Given the description of an element on the screen output the (x, y) to click on. 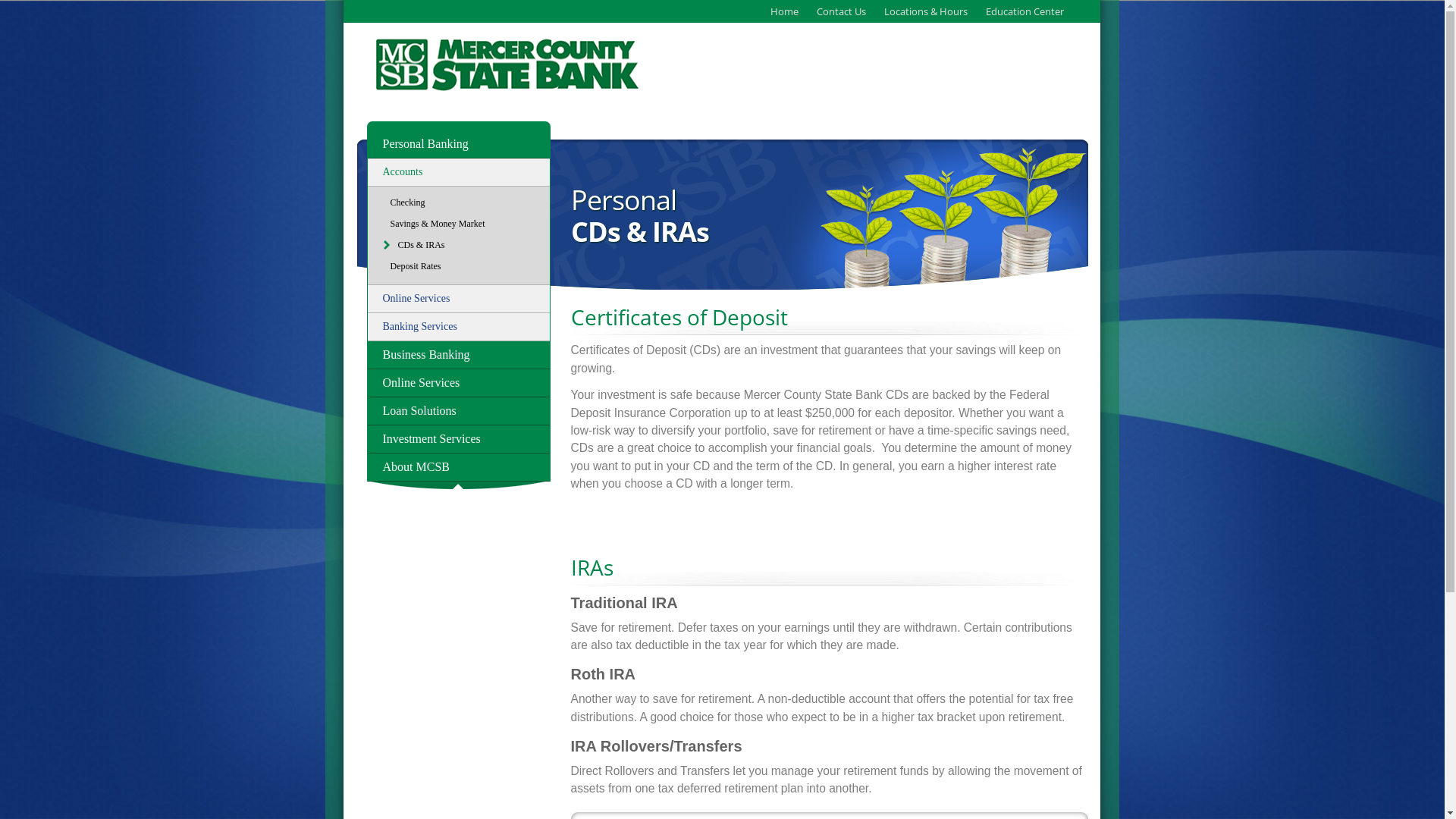
Back to top Element type: hover (458, 471)
Investment Services Element type: text (458, 438)
Locations & Hours Element type: text (925, 11)
Education Center Element type: text (1024, 11)
Checking Element type: text (461, 202)
Personal Banking Element type: text (458, 143)
Online Services Element type: text (458, 382)
Banking Services Element type: text (458, 326)
Home Element type: text (784, 11)
Deposit Rates Element type: text (461, 265)
Savings & Money Market Element type: text (461, 223)
CDs & IRAs Element type: text (465, 244)
Accounts Element type: text (458, 171)
Business Banking Element type: text (458, 354)
Contact Us Element type: text (840, 11)
Online Services Element type: text (458, 298)
About MCSB Element type: text (458, 466)
Loan Solutions Element type: text (458, 410)
